Given the description of an element on the screen output the (x, y) to click on. 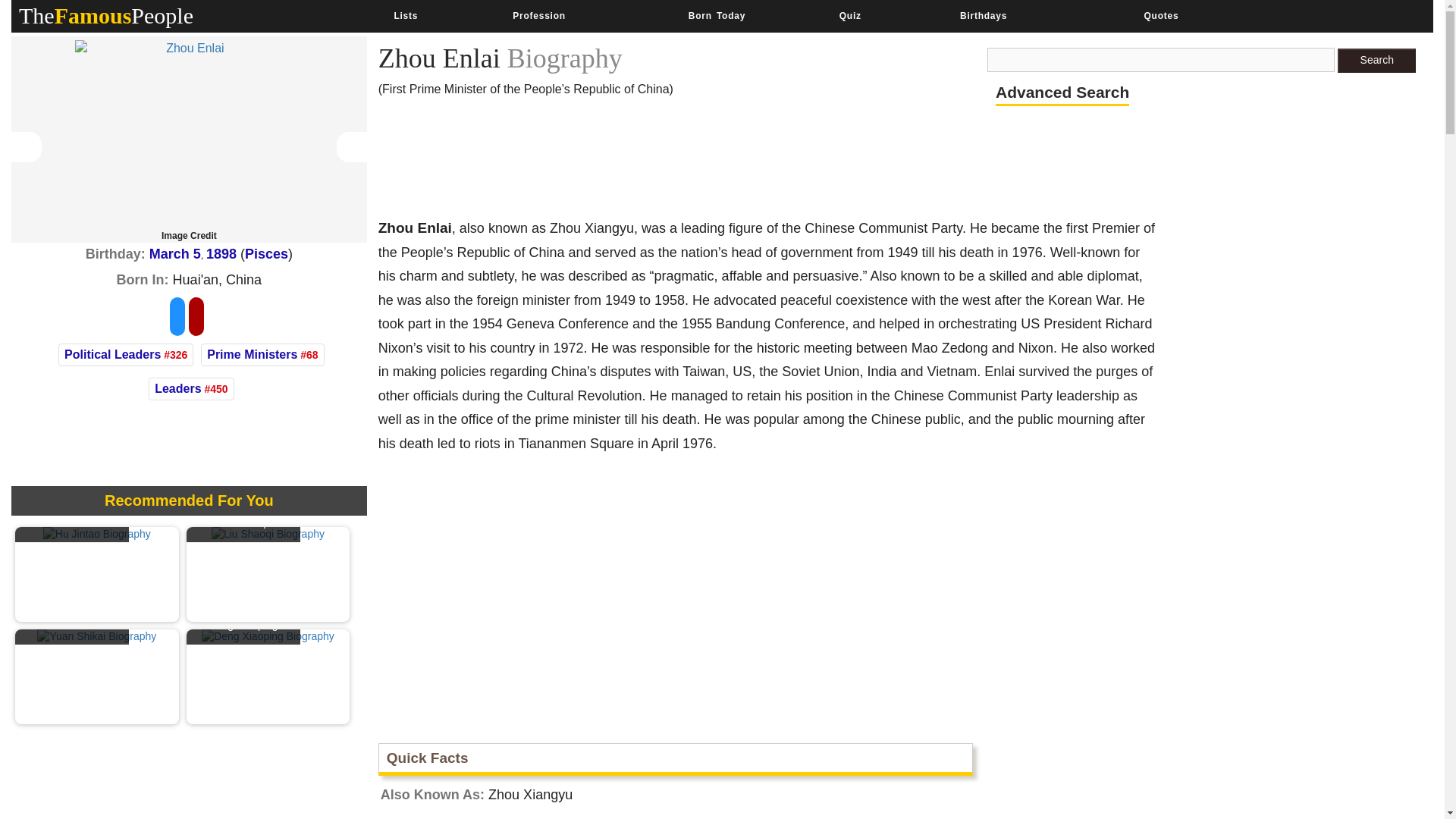
Birthdays (983, 15)
Search (1376, 60)
Prime Ministers (251, 354)
Advanced Search (1062, 93)
Quotes (1160, 15)
Zhou Enlai (188, 135)
TheFamousPeople (105, 15)
Pisces (266, 253)
1898 (220, 253)
Search (1376, 60)
